Given the description of an element on the screen output the (x, y) to click on. 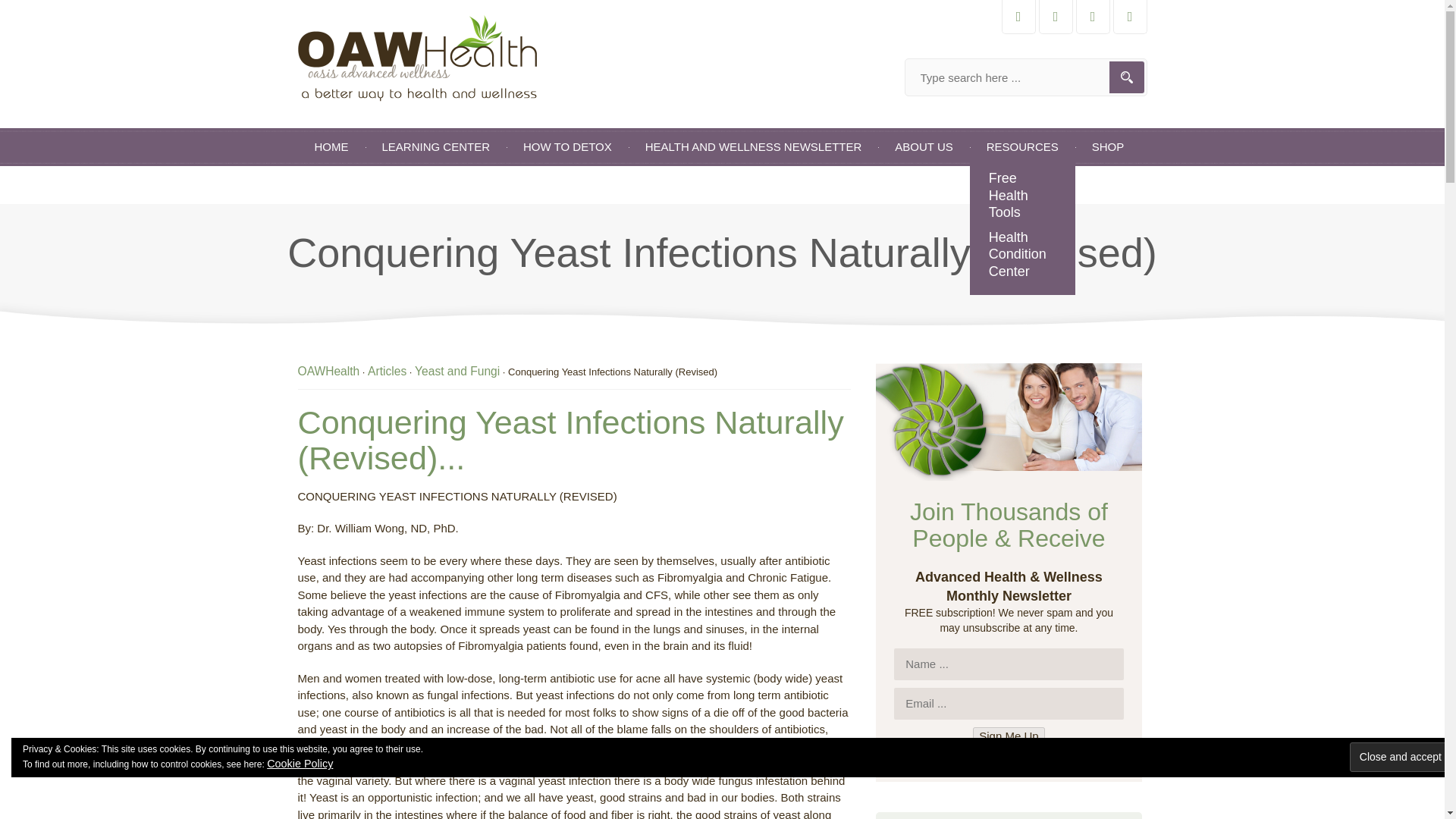
Yeast and Fungi (456, 370)
CONTACT US (350, 184)
LEARNING CENTER (435, 146)
HOME (331, 146)
OAWHealth (328, 370)
HOW TO DETOX (567, 146)
RESOURCES (1022, 146)
Articles (387, 370)
Go to the Yeast and Fungi Article Categories archives. (456, 370)
Go to OAWHealth. (328, 370)
HEALTH AND WELLNESS NEWSLETTER (753, 146)
Free Health Tools (1022, 195)
SHOP (1108, 146)
ABOUT US (923, 146)
Sign Me Up (1007, 735)
